Given the description of an element on the screen output the (x, y) to click on. 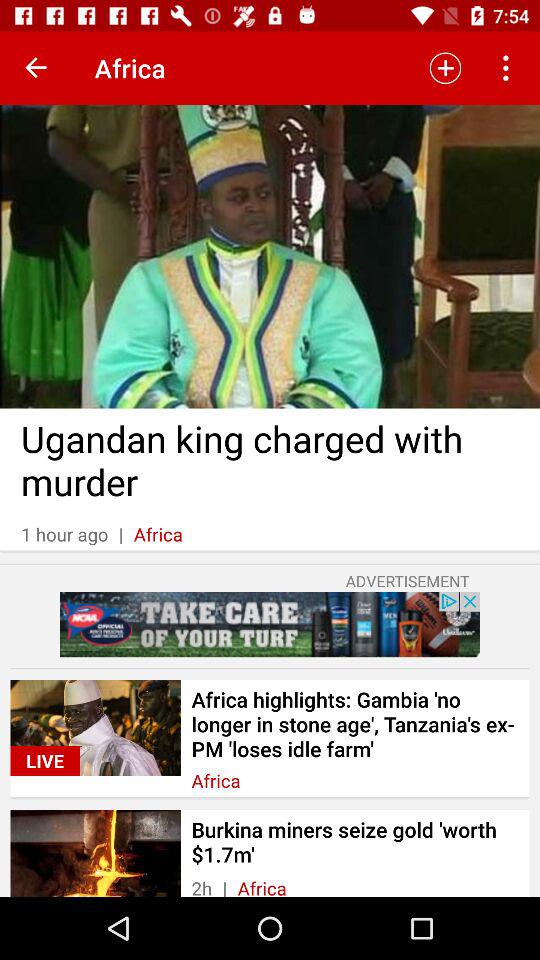
go back (36, 68)
